Given the description of an element on the screen output the (x, y) to click on. 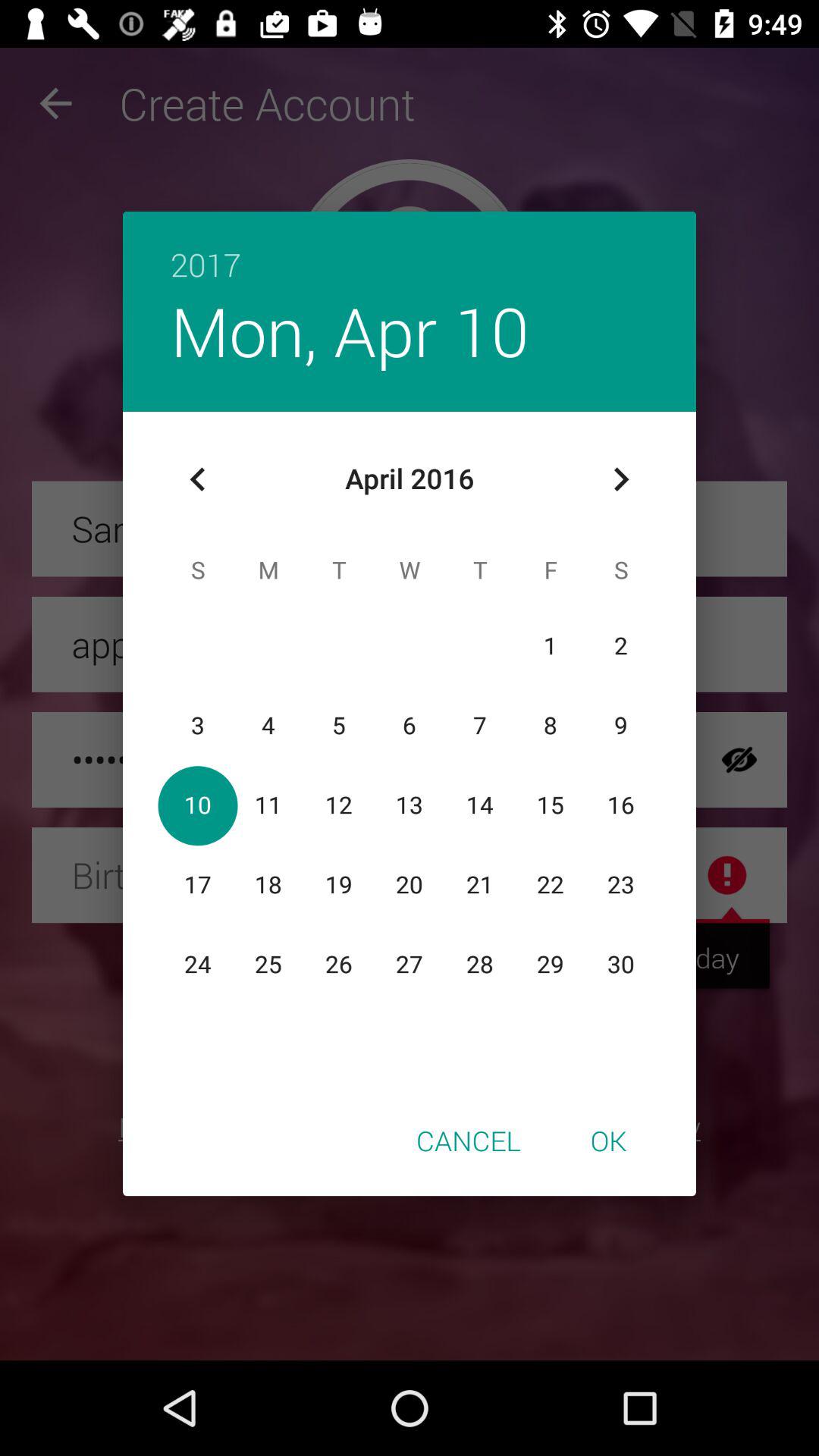
turn on ok item (608, 1140)
